Given the description of an element on the screen output the (x, y) to click on. 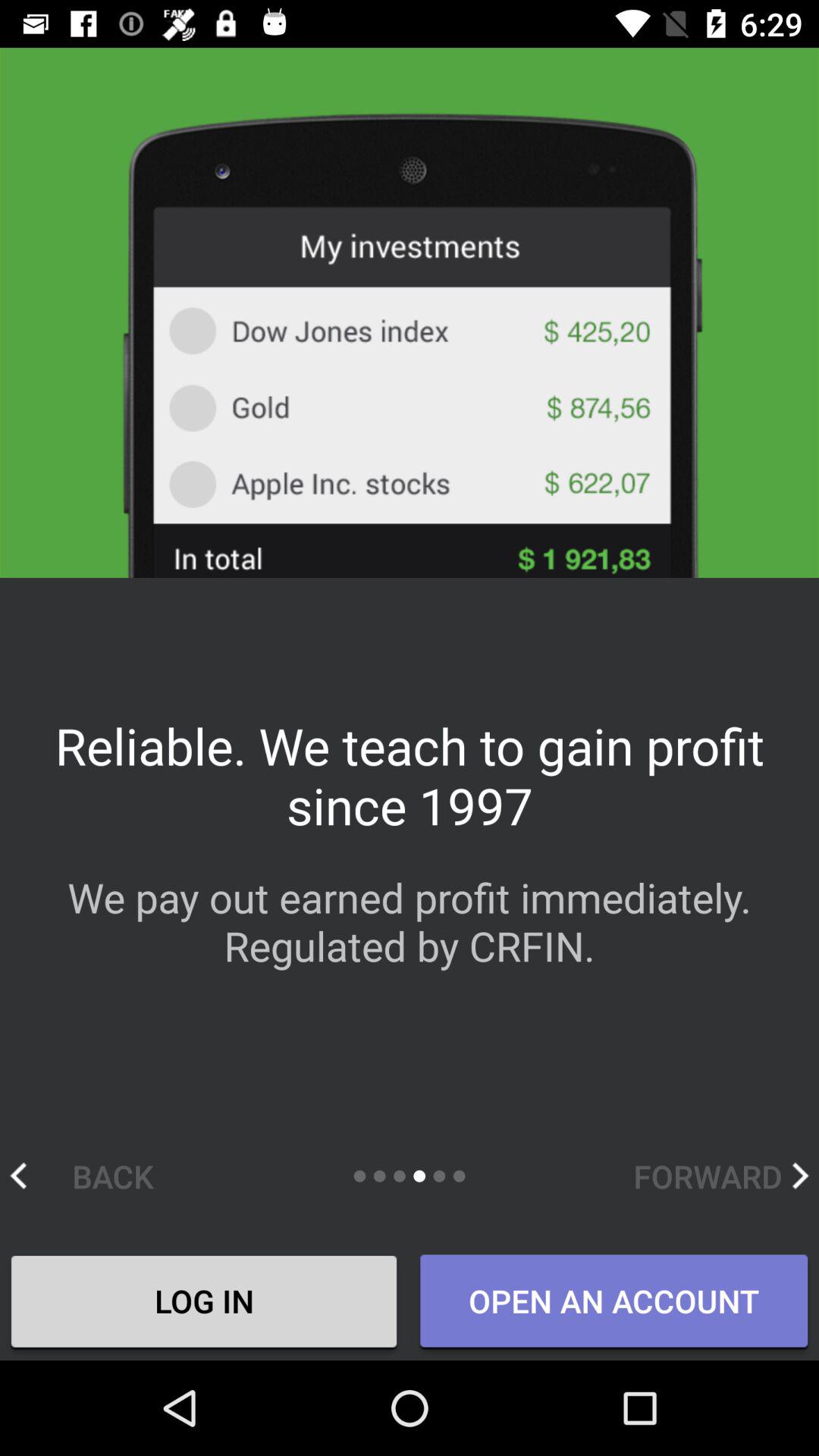
jump to back (97, 1175)
